Given the description of an element on the screen output the (x, y) to click on. 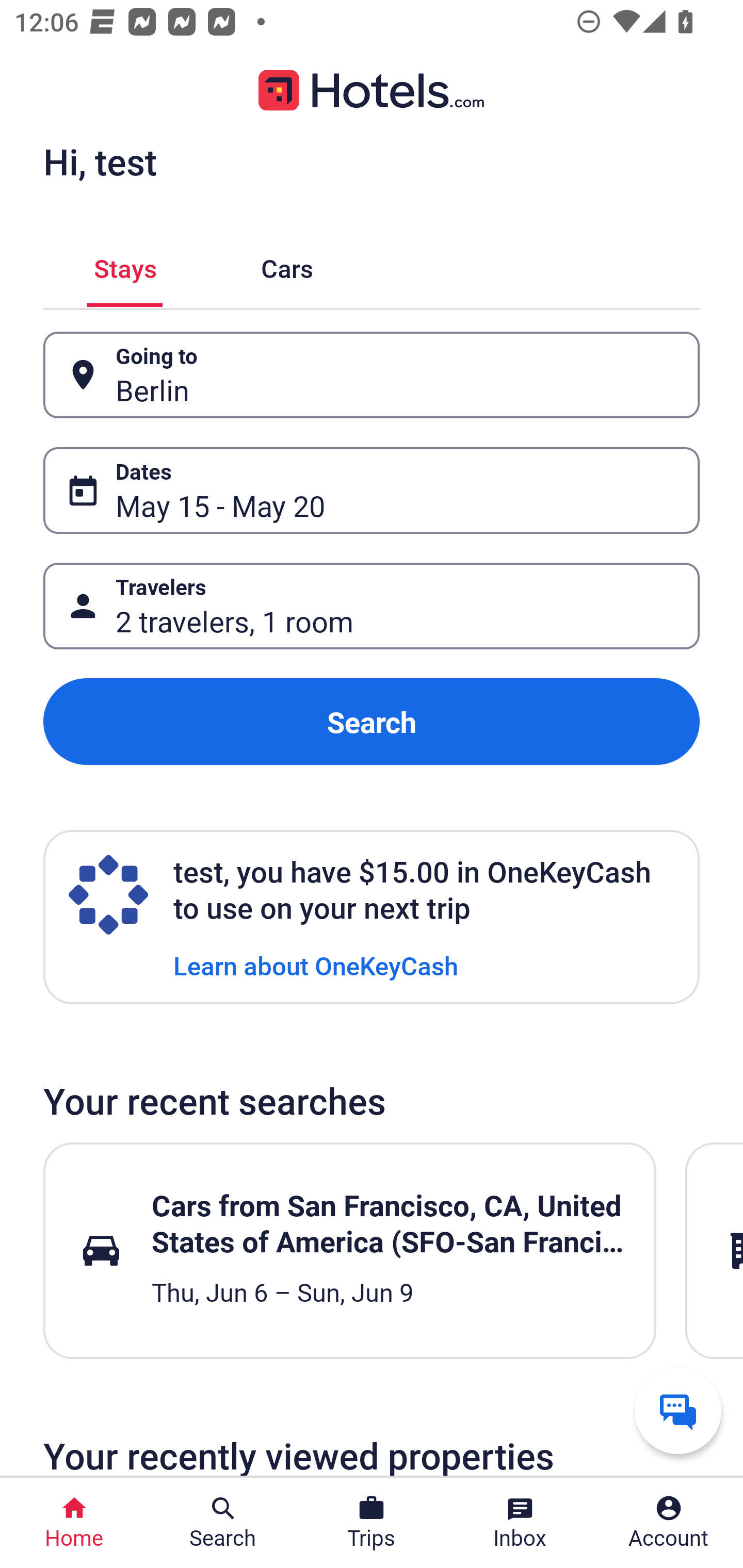
Hi, test (99, 161)
Cars (286, 265)
Going to Button Berlin (371, 375)
Dates Button May 15 - May 20 (371, 489)
Travelers Button 2 travelers, 1 room (371, 605)
Search (371, 721)
Learn about OneKeyCash Learn about OneKeyCash Link (315, 964)
Get help from a virtual agent (677, 1410)
Search Search Button (222, 1522)
Trips Trips Button (371, 1522)
Inbox Inbox Button (519, 1522)
Account Profile. Button (668, 1522)
